Given the description of an element on the screen output the (x, y) to click on. 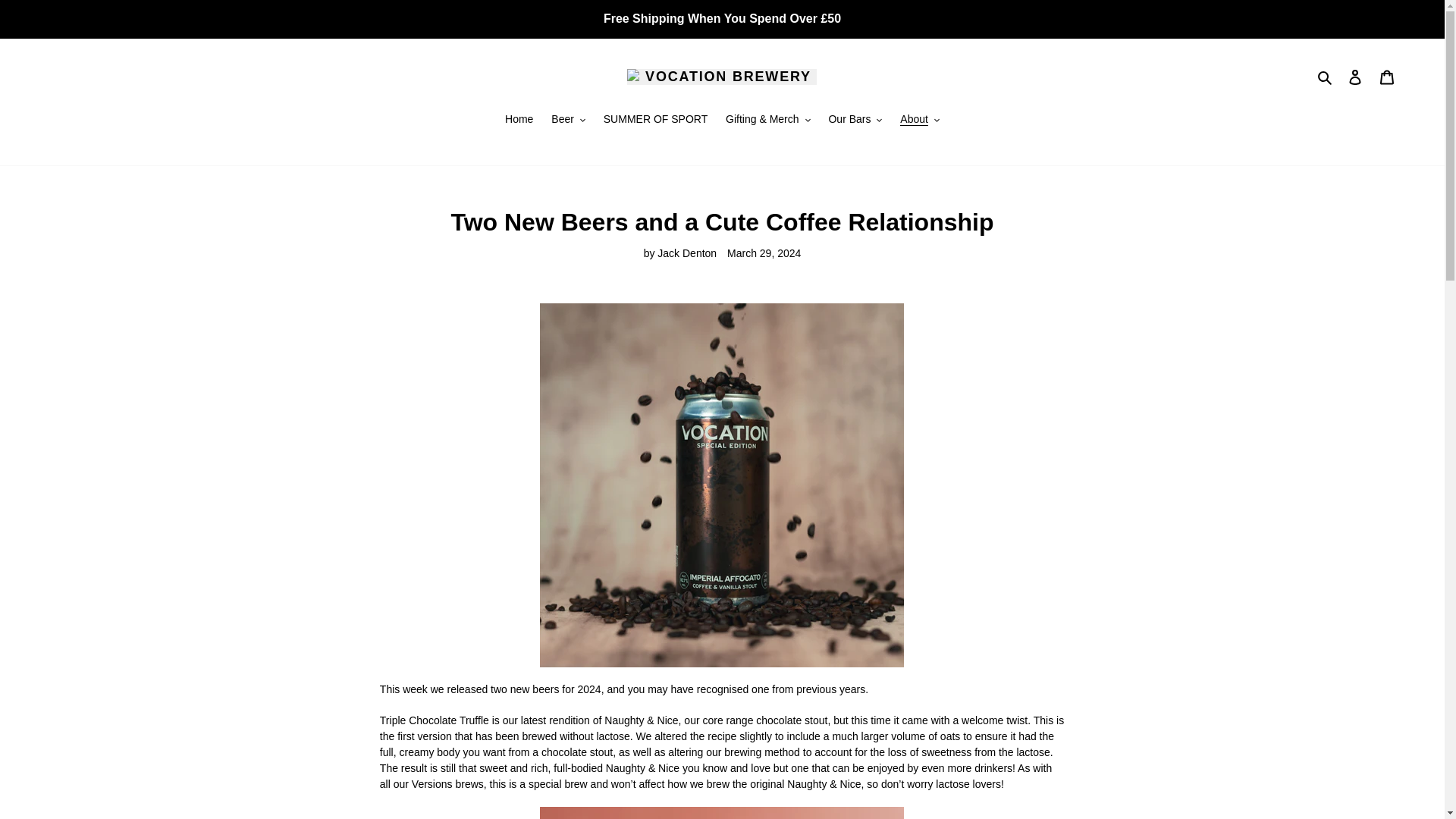
Search (1326, 76)
Log in (1355, 76)
Cart (1387, 76)
